Given the description of an element on the screen output the (x, y) to click on. 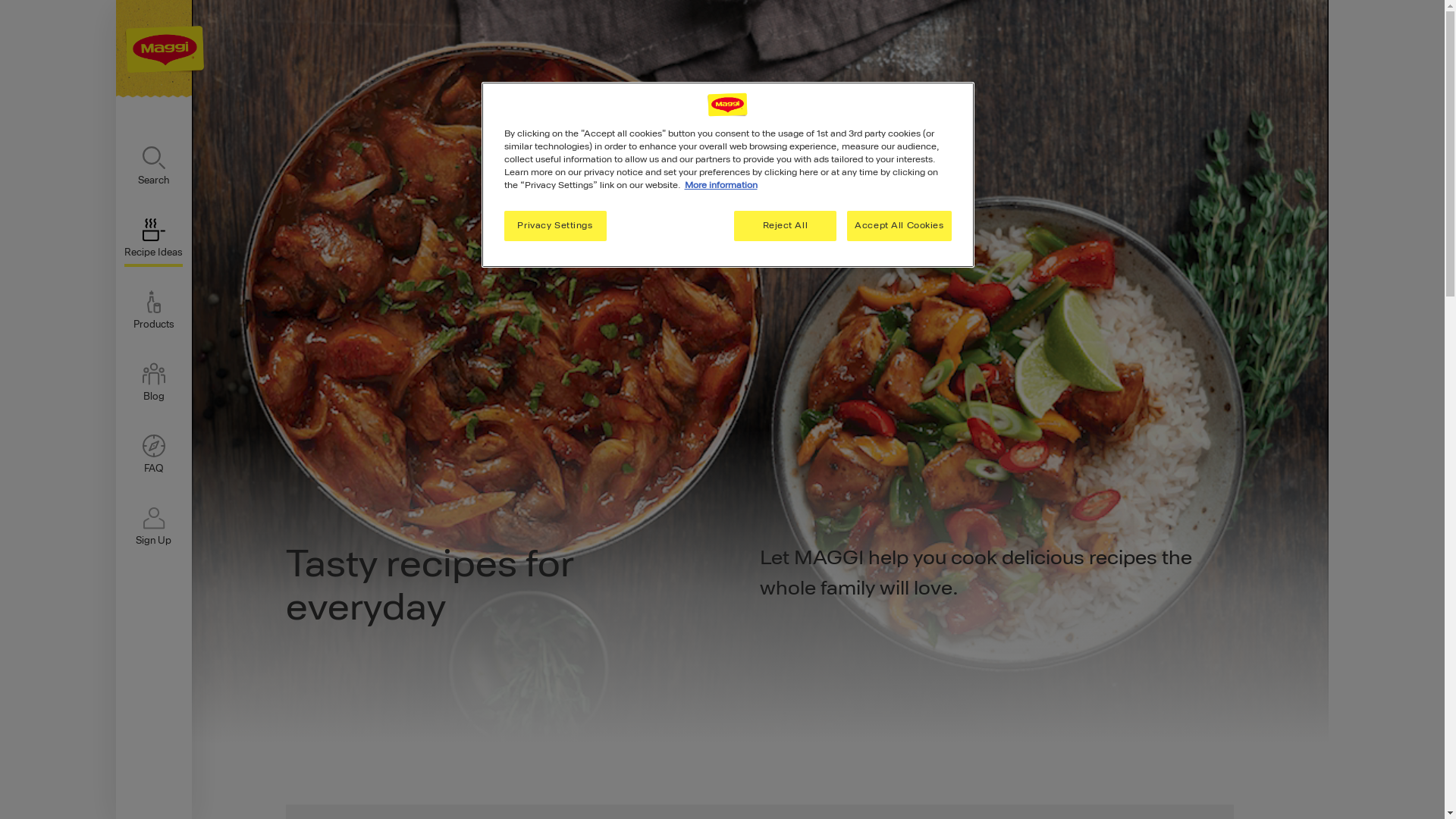
FAQ Element type: text (153, 454)
Recipe Ideas Element type: text (153, 242)
Blog Element type: text (153, 382)
Company Logo Element type: hover (727, 104)
Search Element type: text (153, 166)
Sign Up Element type: text (153, 526)
Products Element type: text (153, 310)
MAGGI Australia Element type: hover (153, 49)
